Given the description of an element on the screen output the (x, y) to click on. 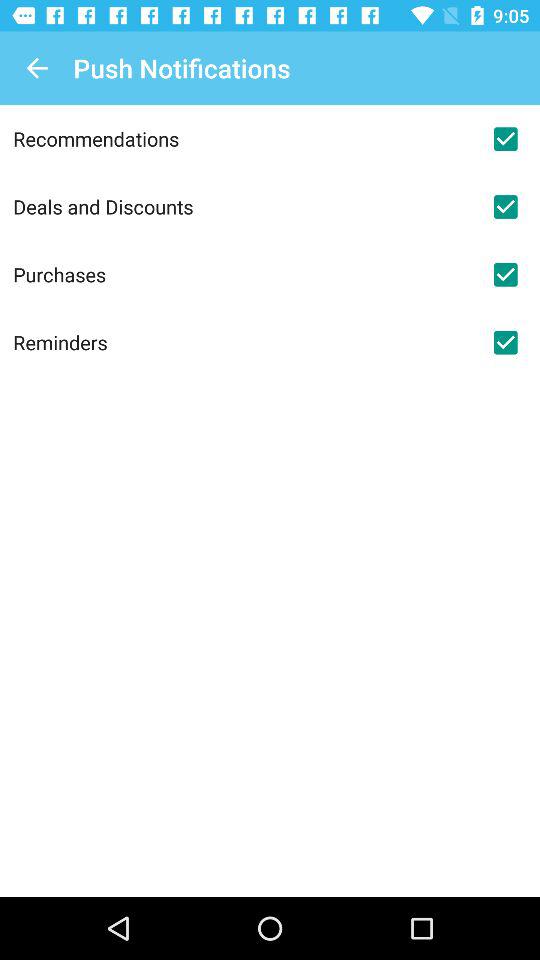
choose the deals and discounts (242, 206)
